Given the description of an element on the screen output the (x, y) to click on. 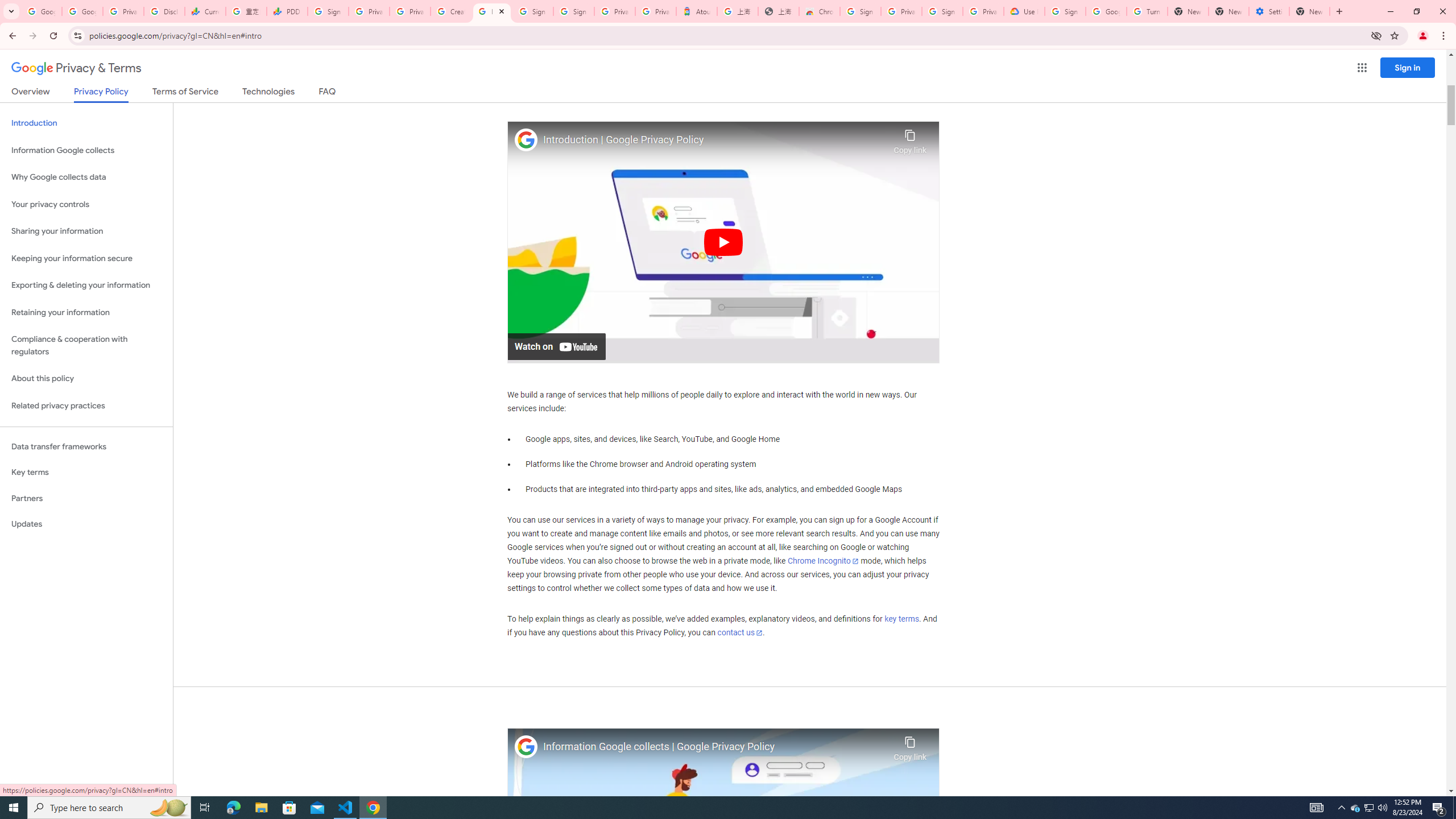
Atour Hotel - Google hotels (696, 11)
Sign in - Google Accounts (860, 11)
Photo image of Google (526, 746)
Chrome Web Store - Color themes by Chrome (818, 11)
